Given the description of an element on the screen output the (x, y) to click on. 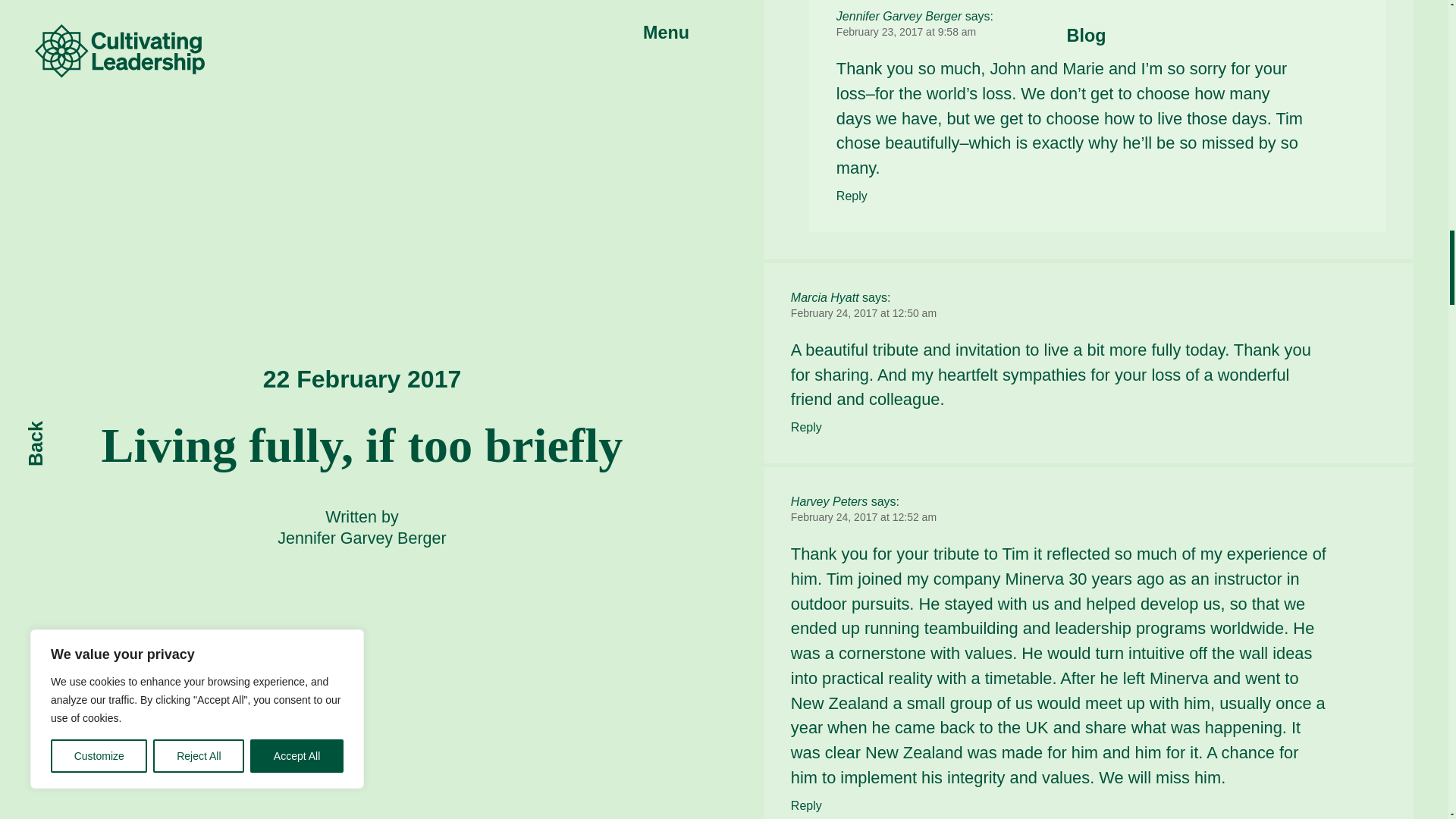
Reply (851, 195)
February 23, 2017 at 9:58 am (905, 31)
Marcia Hyatt (824, 297)
